Given the description of an element on the screen output the (x, y) to click on. 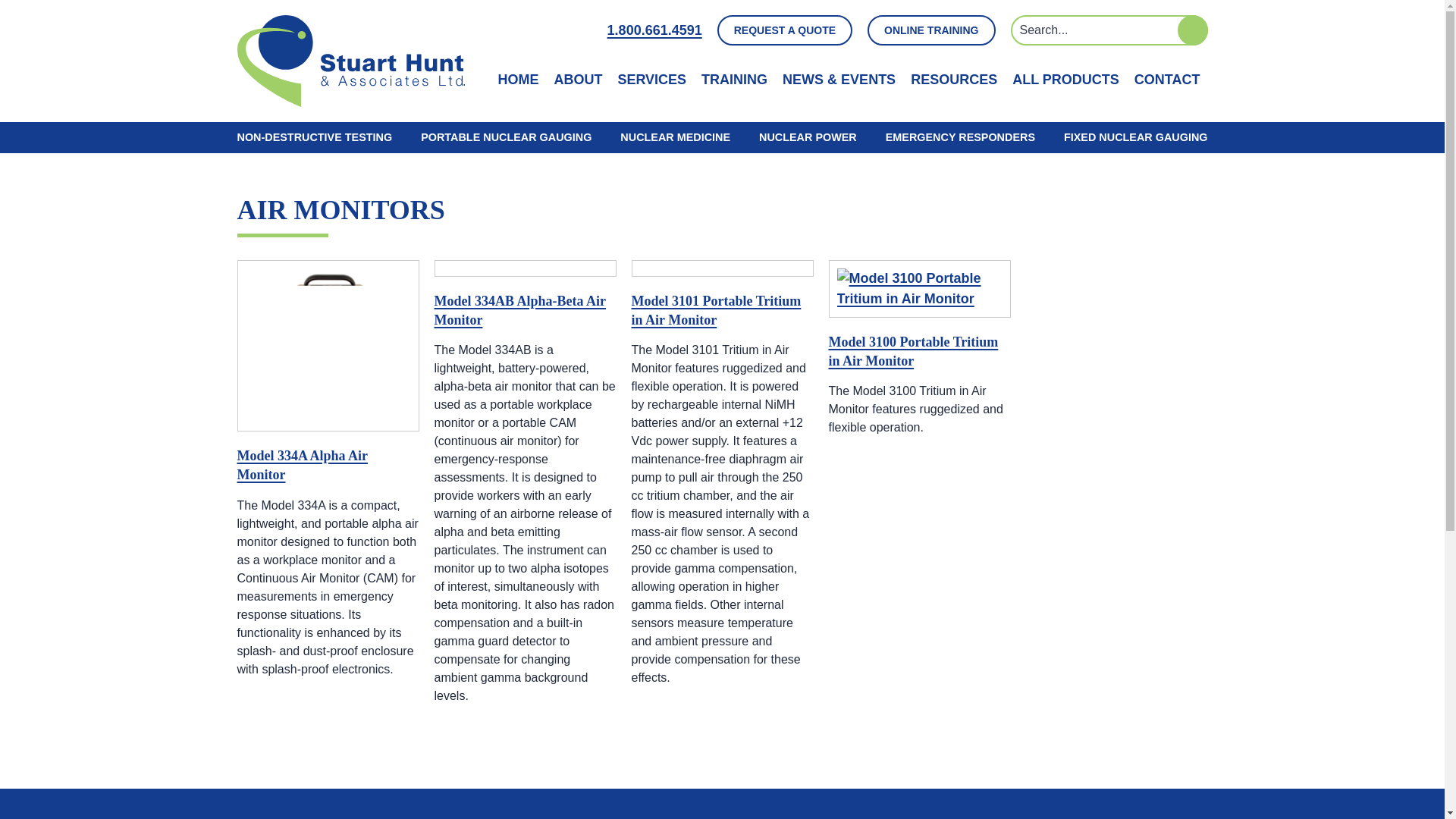
HOME (517, 79)
RESOURCES (954, 79)
REQUEST A QUOTE (784, 30)
TRAINING (734, 79)
SERVICES (651, 79)
1.800.661.4591 (654, 29)
CONTACT (1166, 79)
ABOUT (577, 79)
ONLINE TRAINING (930, 30)
website search (1108, 30)
